Given the description of an element on the screen output the (x, y) to click on. 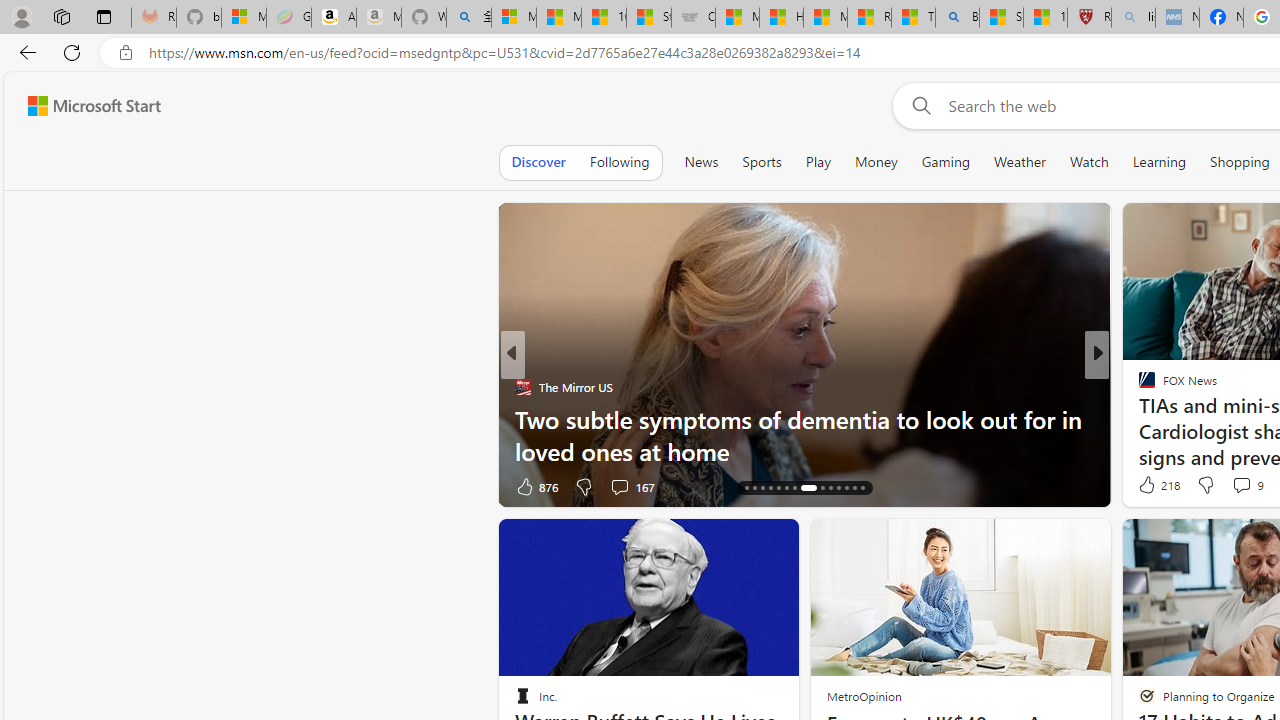
Tasting Table (1138, 386)
View comments 23 Comment (1234, 485)
Medical Xpress (1138, 386)
View comments 34 Comment (11, 485)
8 Like (1145, 486)
154 Like (1151, 486)
MarketBeat (1138, 418)
AutomationID: tab-17 (761, 487)
View comments 23 Comment (1244, 486)
AutomationID: tab-25 (838, 487)
